Given the description of an element on the screen output the (x, y) to click on. 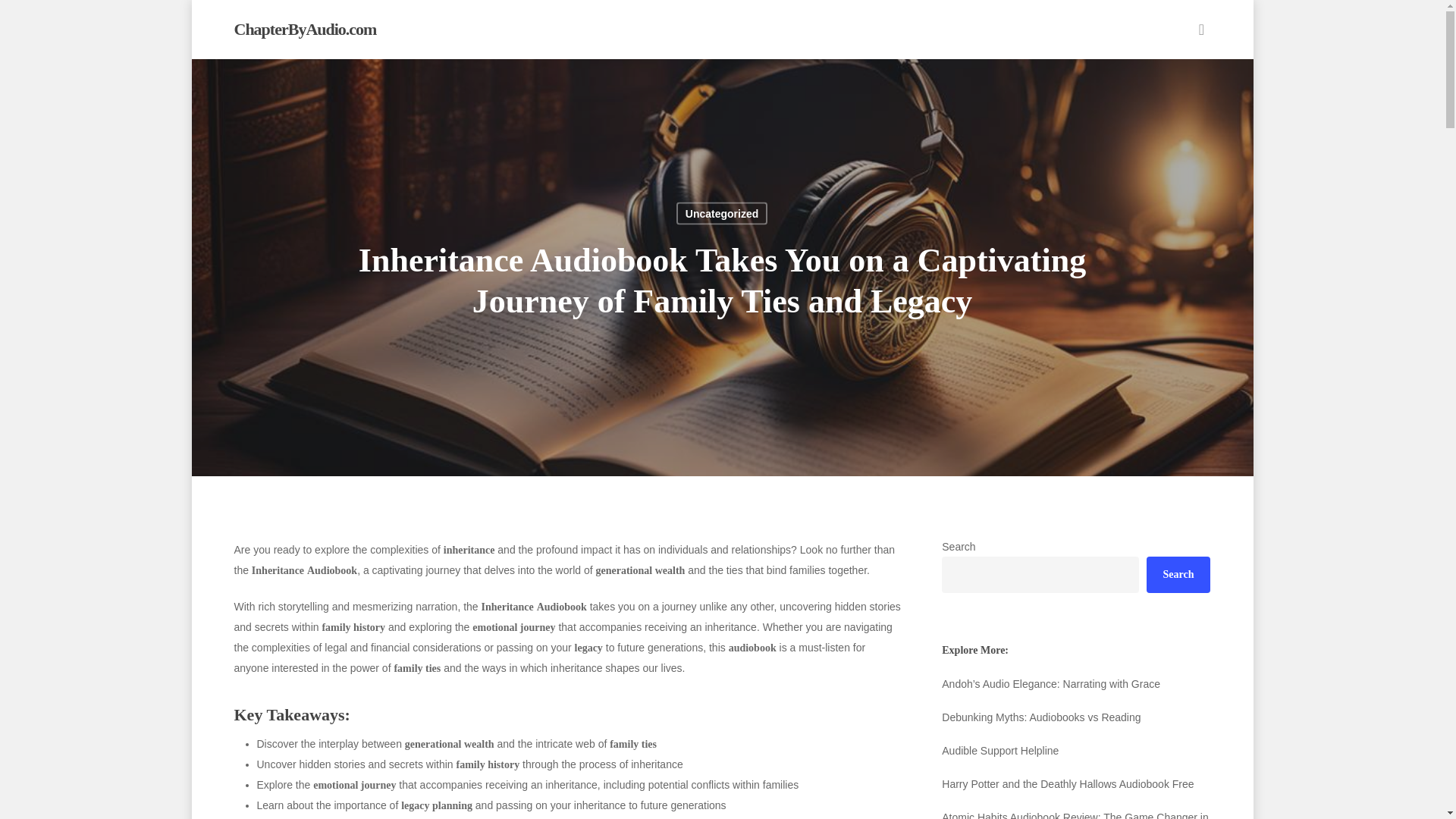
Uncategorized (722, 212)
In Cold Blood Audiobook Free (1075, 683)
Search (1179, 574)
search (1200, 28)
ChapterByAudio.com (303, 29)
